Given the description of an element on the screen output the (x, y) to click on. 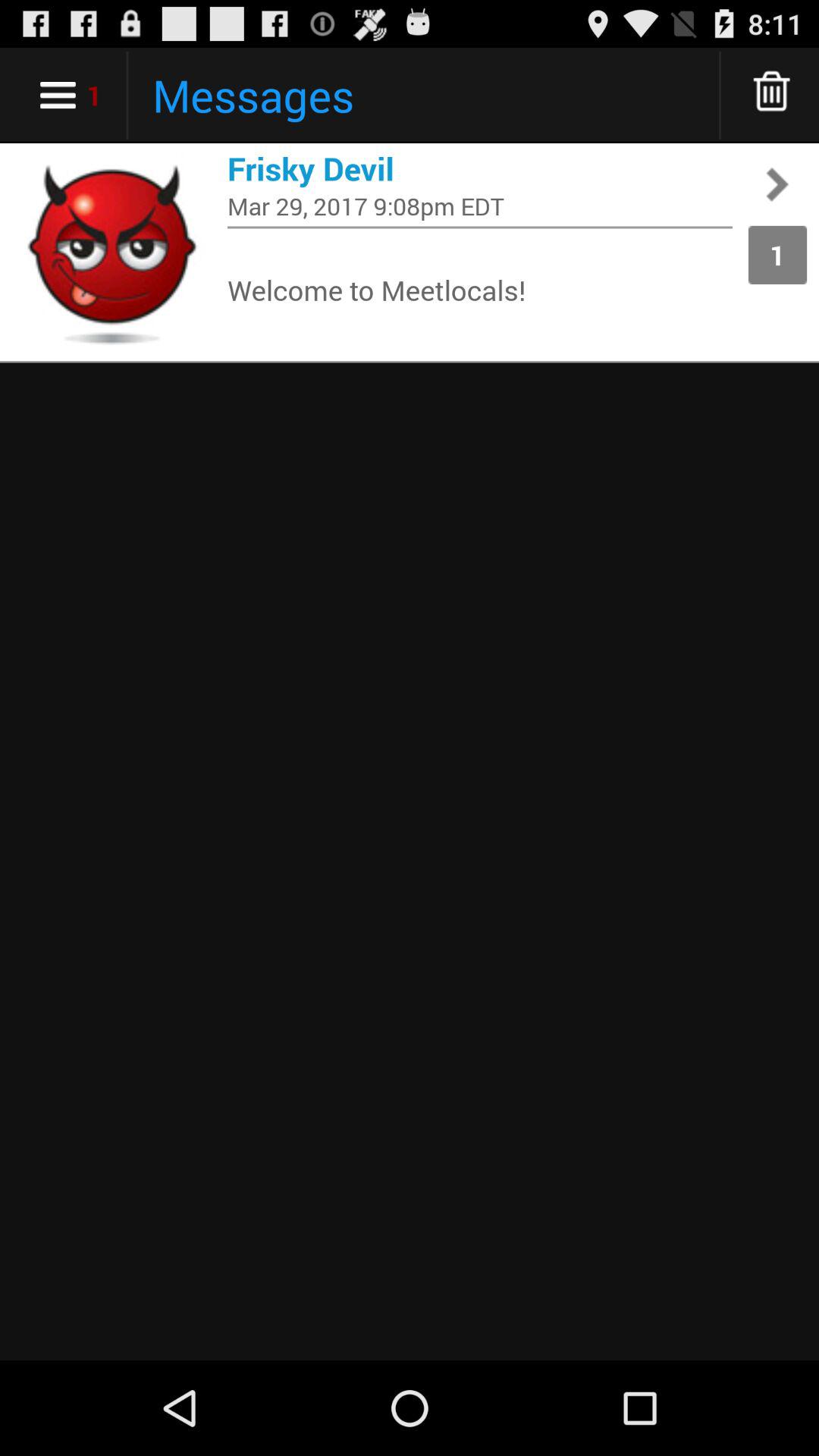
turn on the app below frisky devil icon (479, 205)
